Given the description of an element on the screen output the (x, y) to click on. 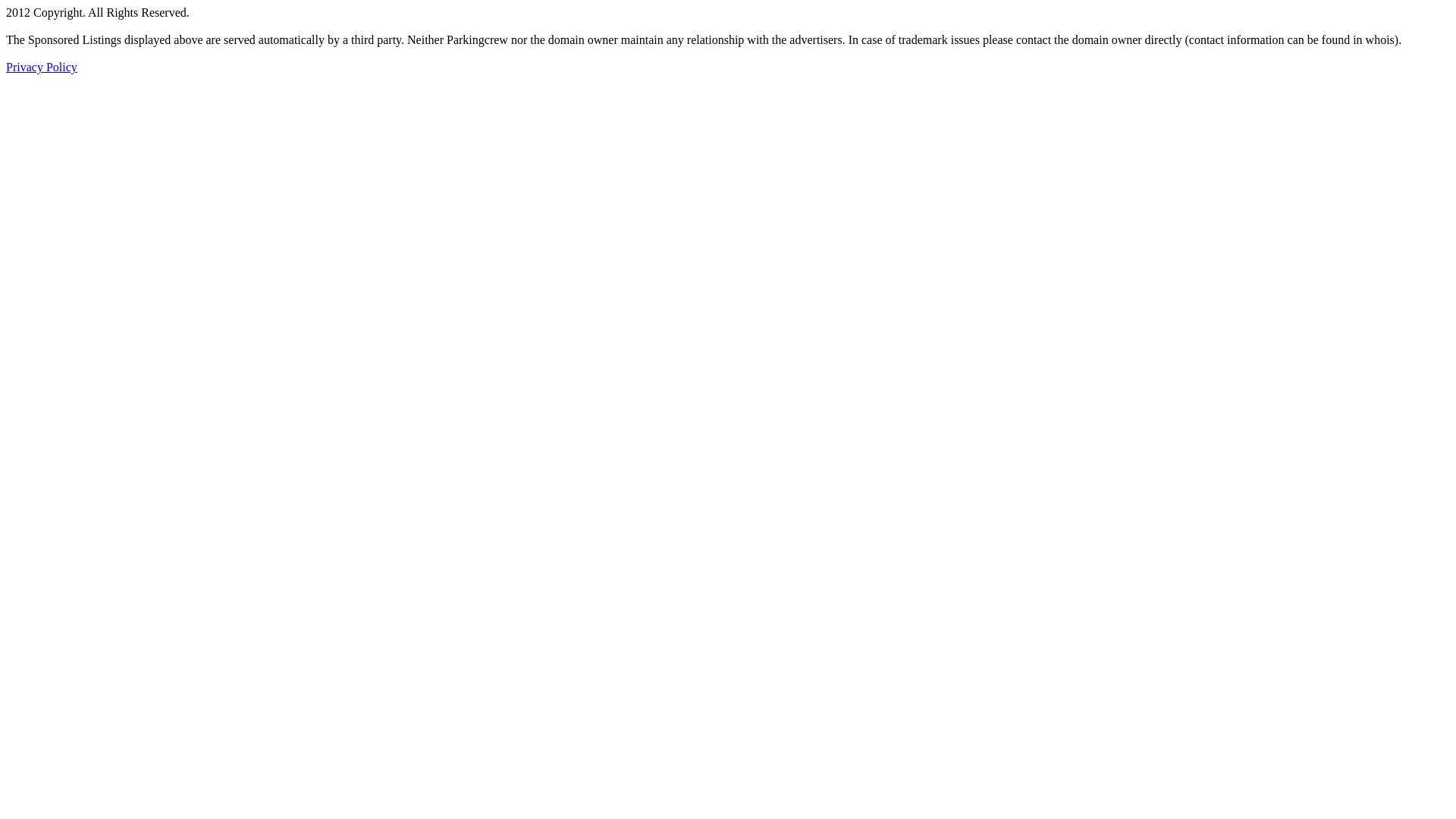
Privacy Policy Element type: text (41, 66)
